Given the description of an element on the screen output the (x, y) to click on. 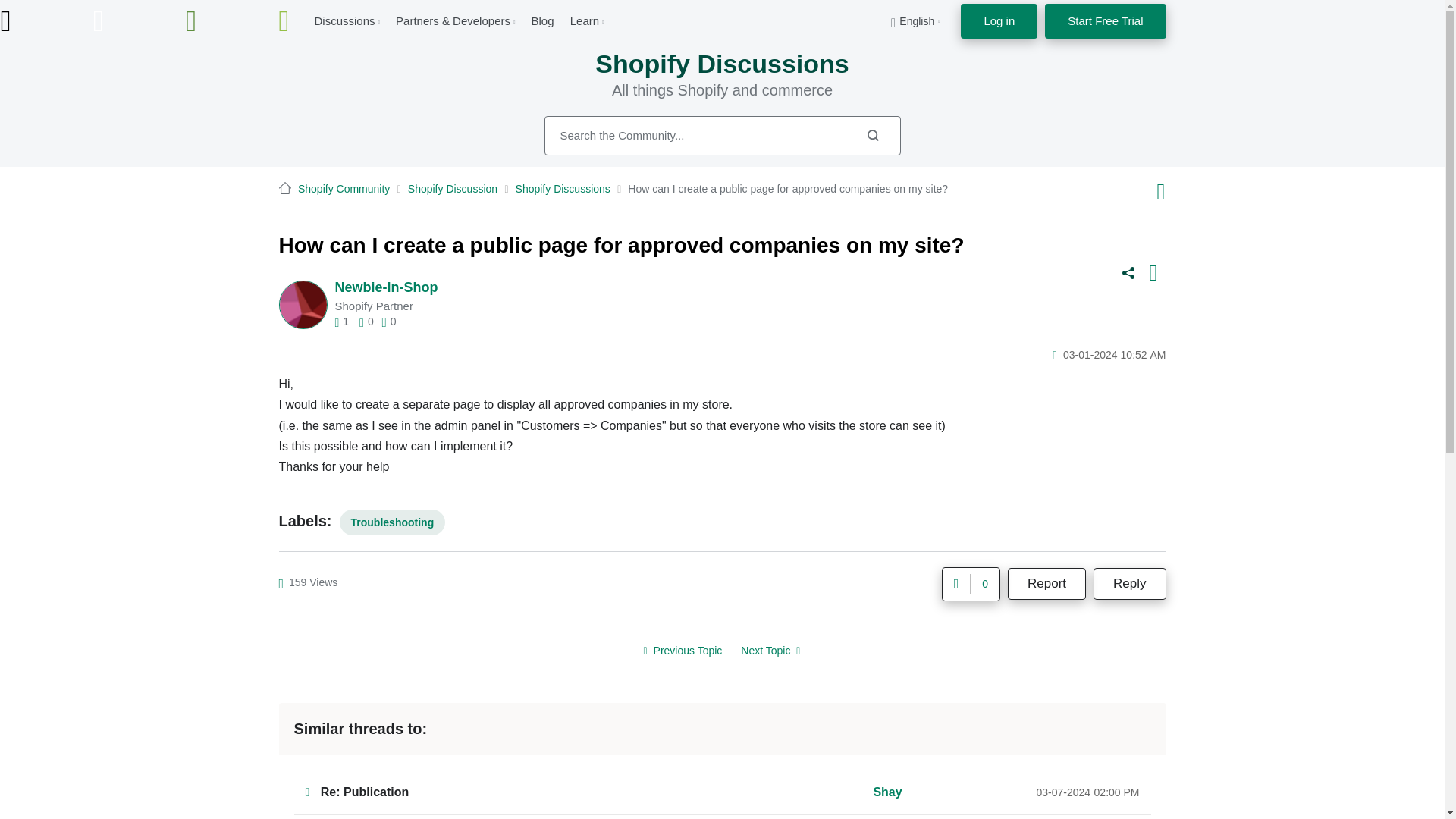
Search (722, 135)
Search (872, 135)
Search (872, 135)
Discussions (344, 20)
